Given the description of an element on the screen output the (x, y) to click on. 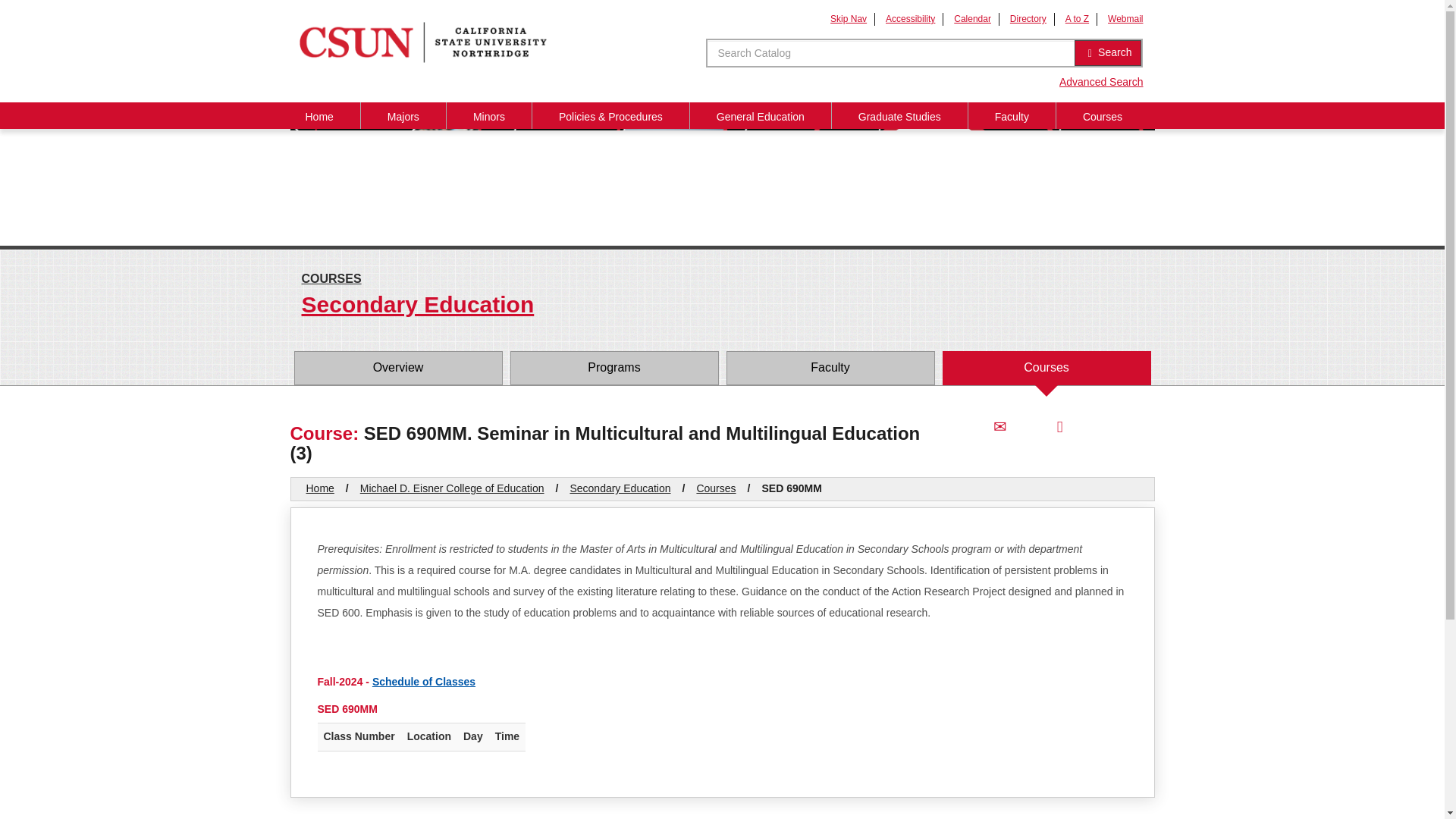
Print this page. (1059, 426)
Secondary Education (721, 306)
Faculty (1011, 115)
Schedule of Classes (424, 681)
Programs (613, 367)
Minors (488, 115)
Search (1107, 53)
Graduate Studies (899, 115)
Majors (403, 115)
Directory (1028, 18)
Skip Nav (847, 18)
Courses (1102, 115)
Home (319, 488)
A to Z (1077, 18)
Overview (398, 367)
